Given the description of an element on the screen output the (x, y) to click on. 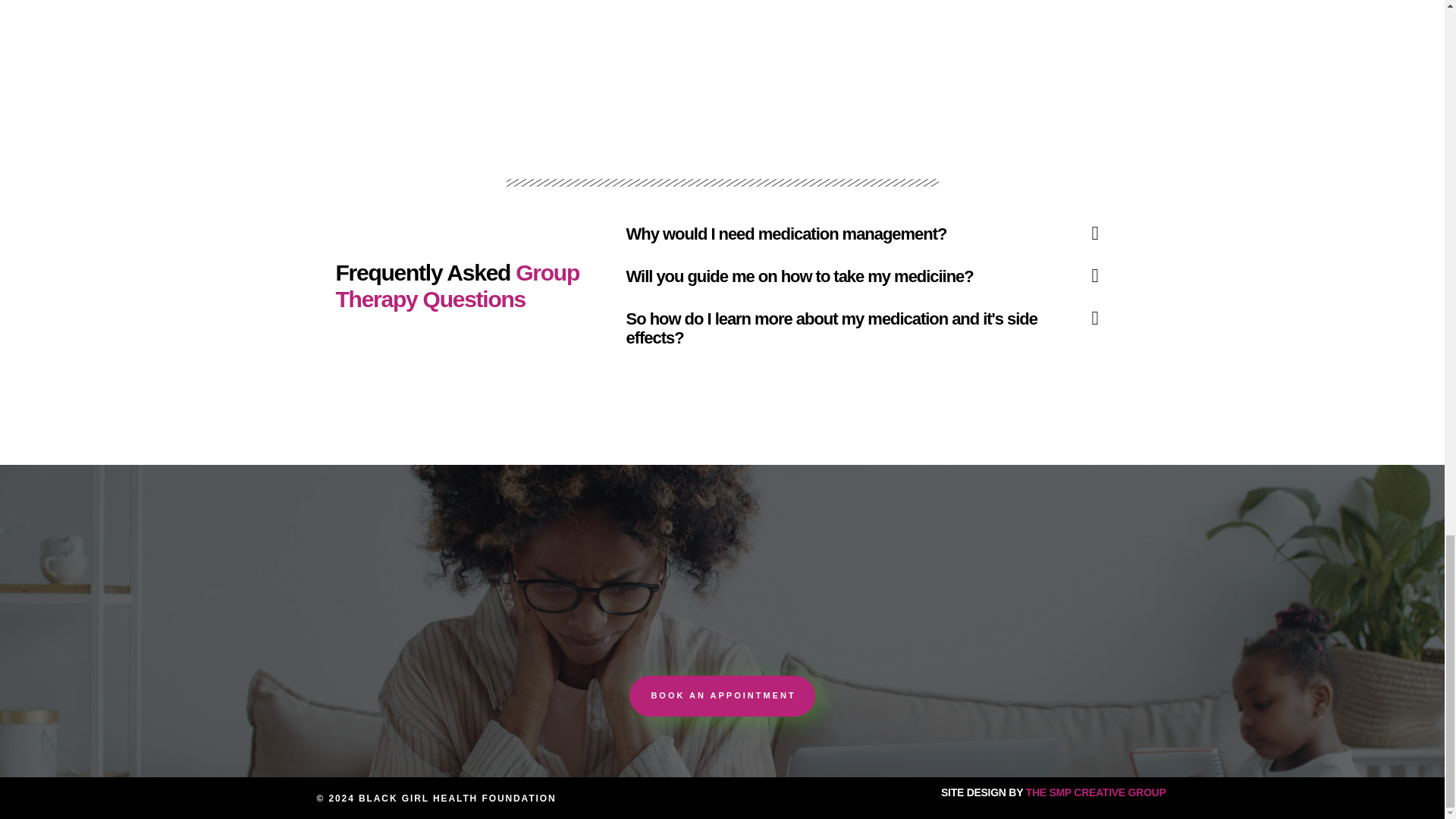
Will you guide me on how to take my mediciine? (800, 275)
THE SMP CREATIVE GROUP (1096, 792)
Why would I need medication management? (786, 233)
BOOK AN APPOINTMENT (720, 695)
